Given the description of an element on the screen output the (x, y) to click on. 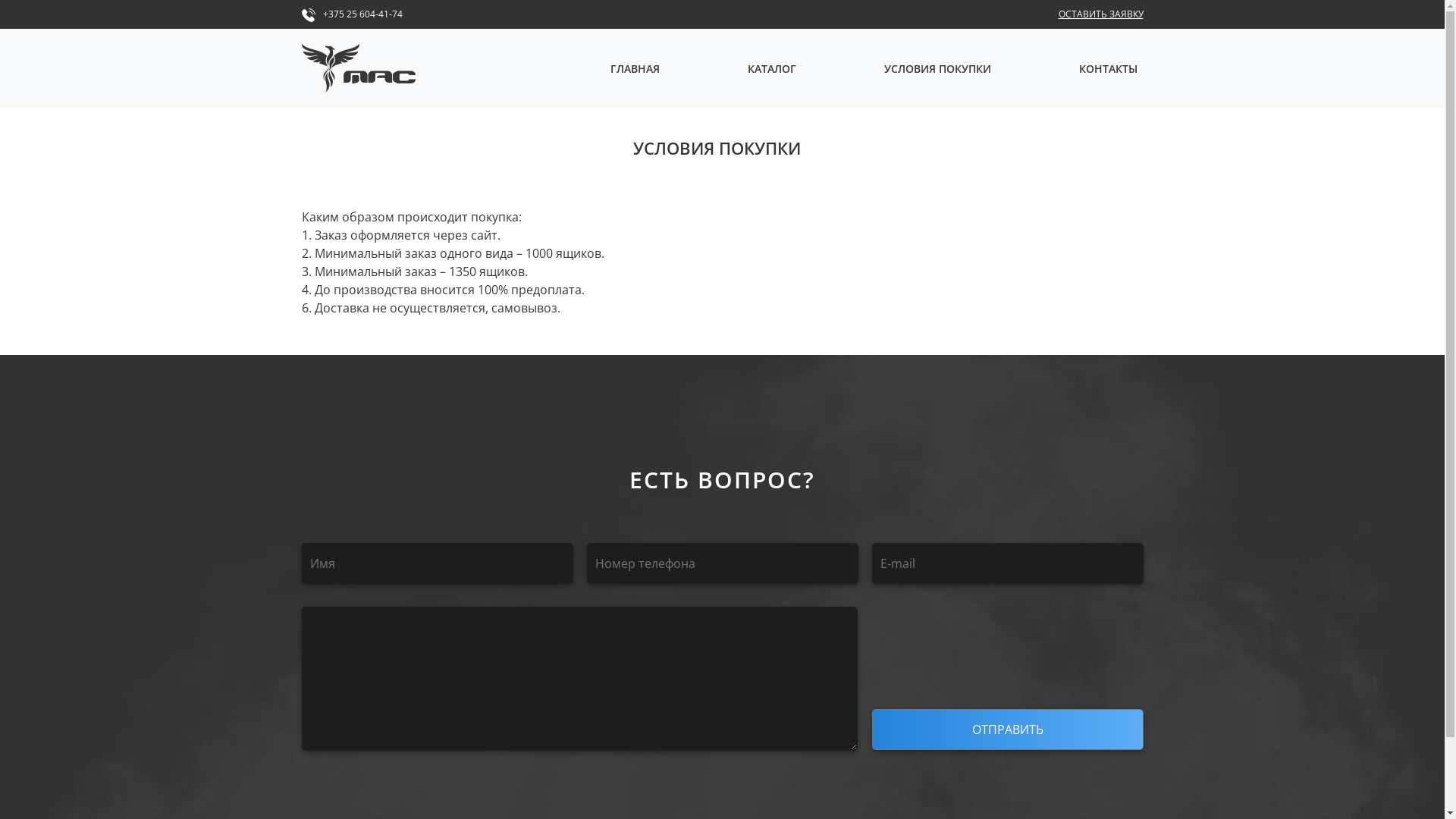
+375 25 604-41-74 Element type: text (362, 13)
